Given the description of an element on the screen output the (x, y) to click on. 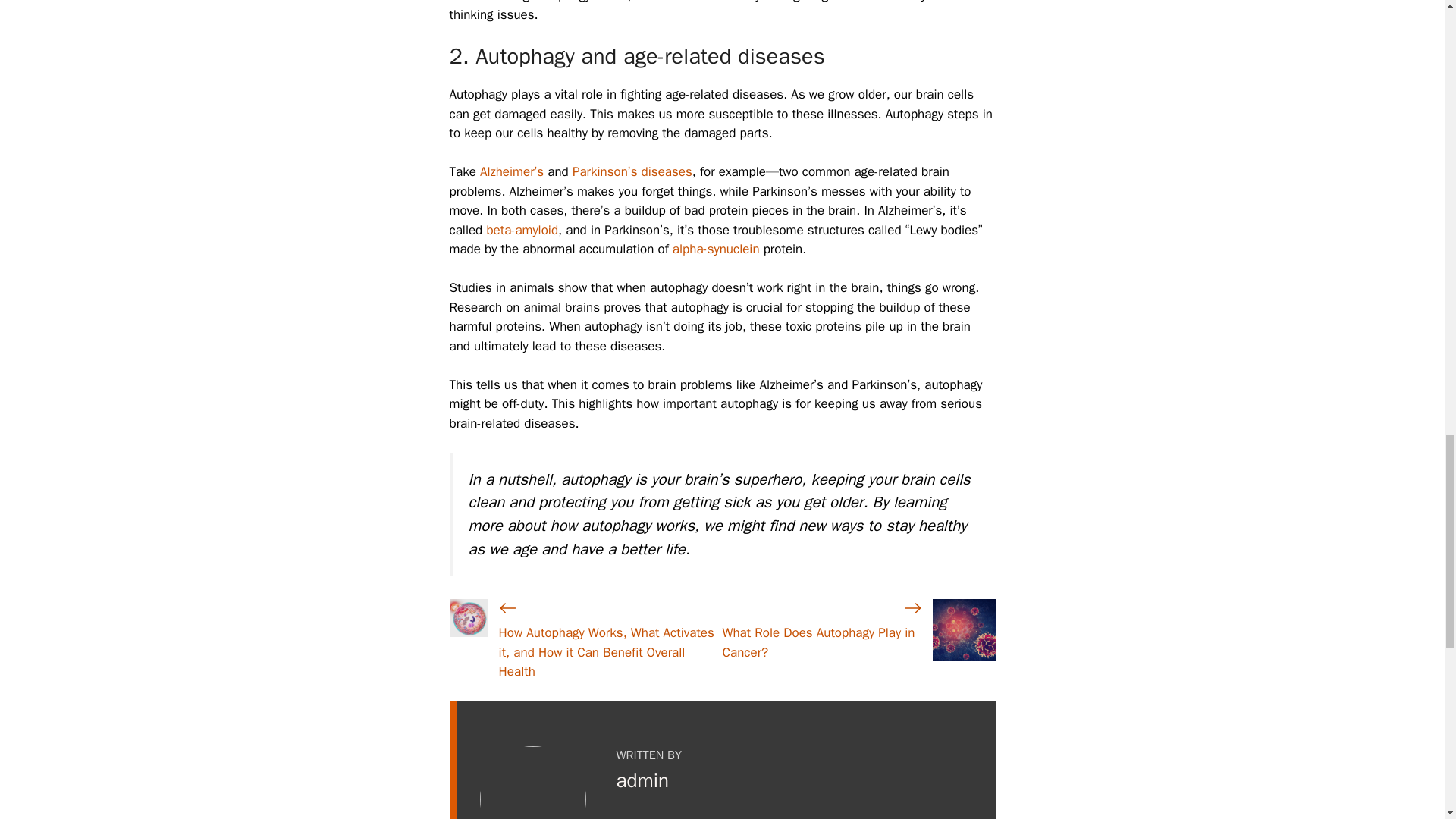
admin (641, 780)
beta-amyloid (521, 229)
What Role Does Autophagy Play in Cancer? (818, 642)
alpha-synuclein (716, 248)
